Given the description of an element on the screen output the (x, y) to click on. 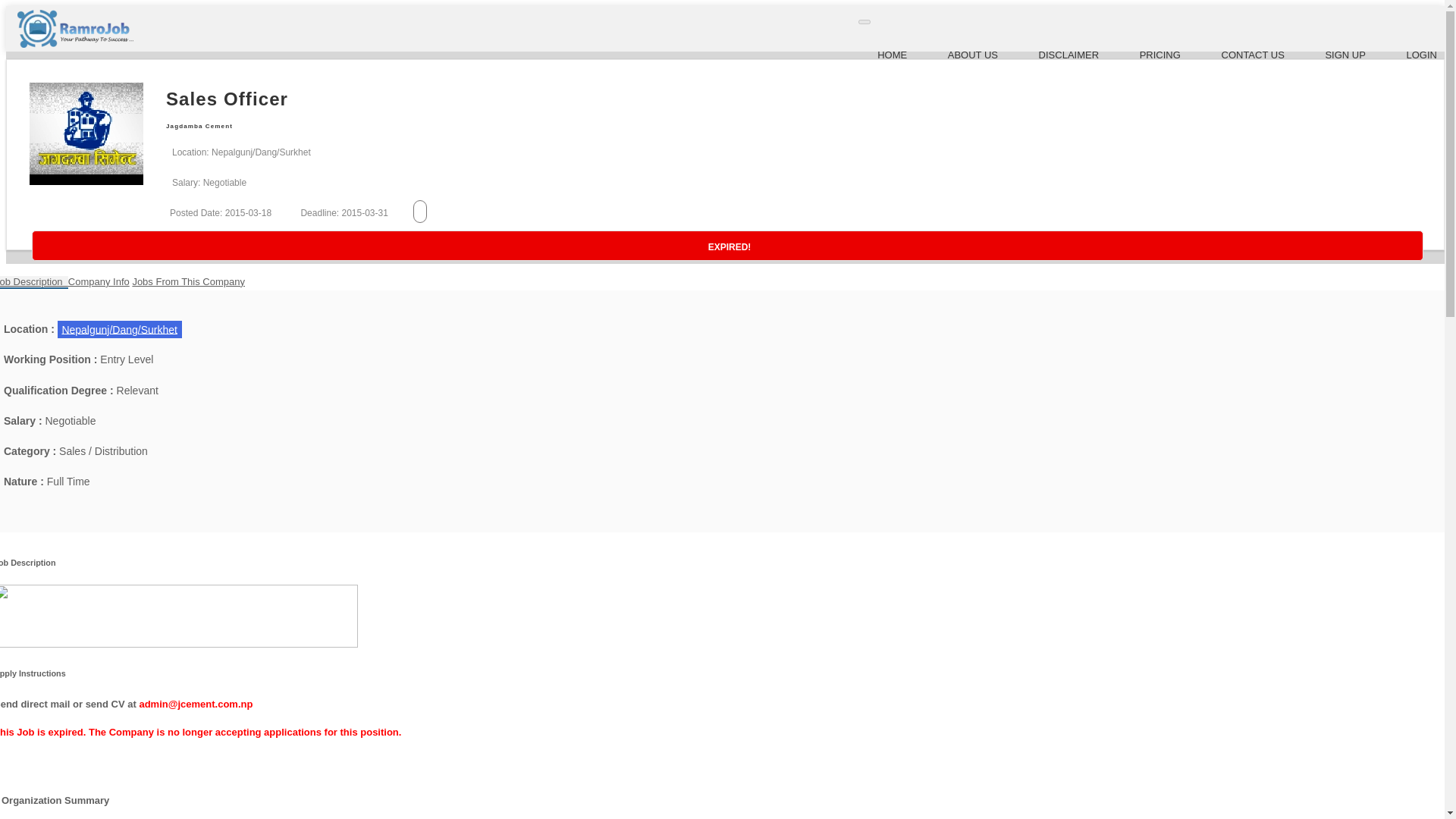
HOME (892, 54)
PRICING (1160, 54)
Ramro Job - Online Job Portal (892, 54)
SIGN UP (1345, 54)
Contact Ramrojob (1252, 54)
EXPIRED! (727, 245)
Login (1421, 54)
Disclaimer (1069, 54)
Ramro Job - Search Jobs in Nepal (74, 44)
Jobs From This Company (188, 281)
Job Posting Pricing (1160, 54)
Job Description  (34, 282)
About Ramro Job (972, 54)
Register (1345, 54)
Company Info (98, 281)
